Given the description of an element on the screen output the (x, y) to click on. 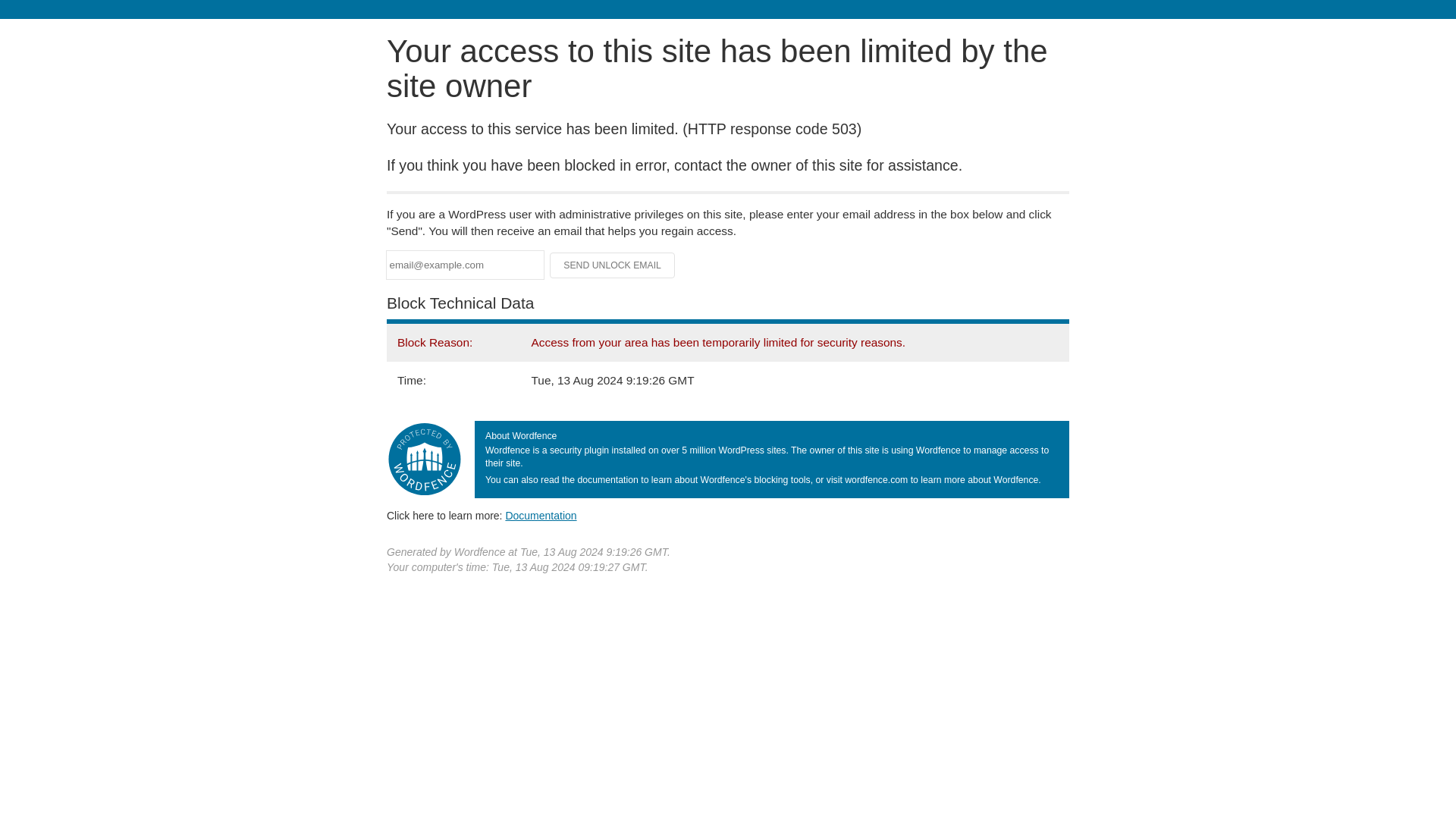
Send Unlock Email (612, 265)
Send Unlock Email (612, 265)
Documentation (540, 515)
